Given the description of an element on the screen output the (x, y) to click on. 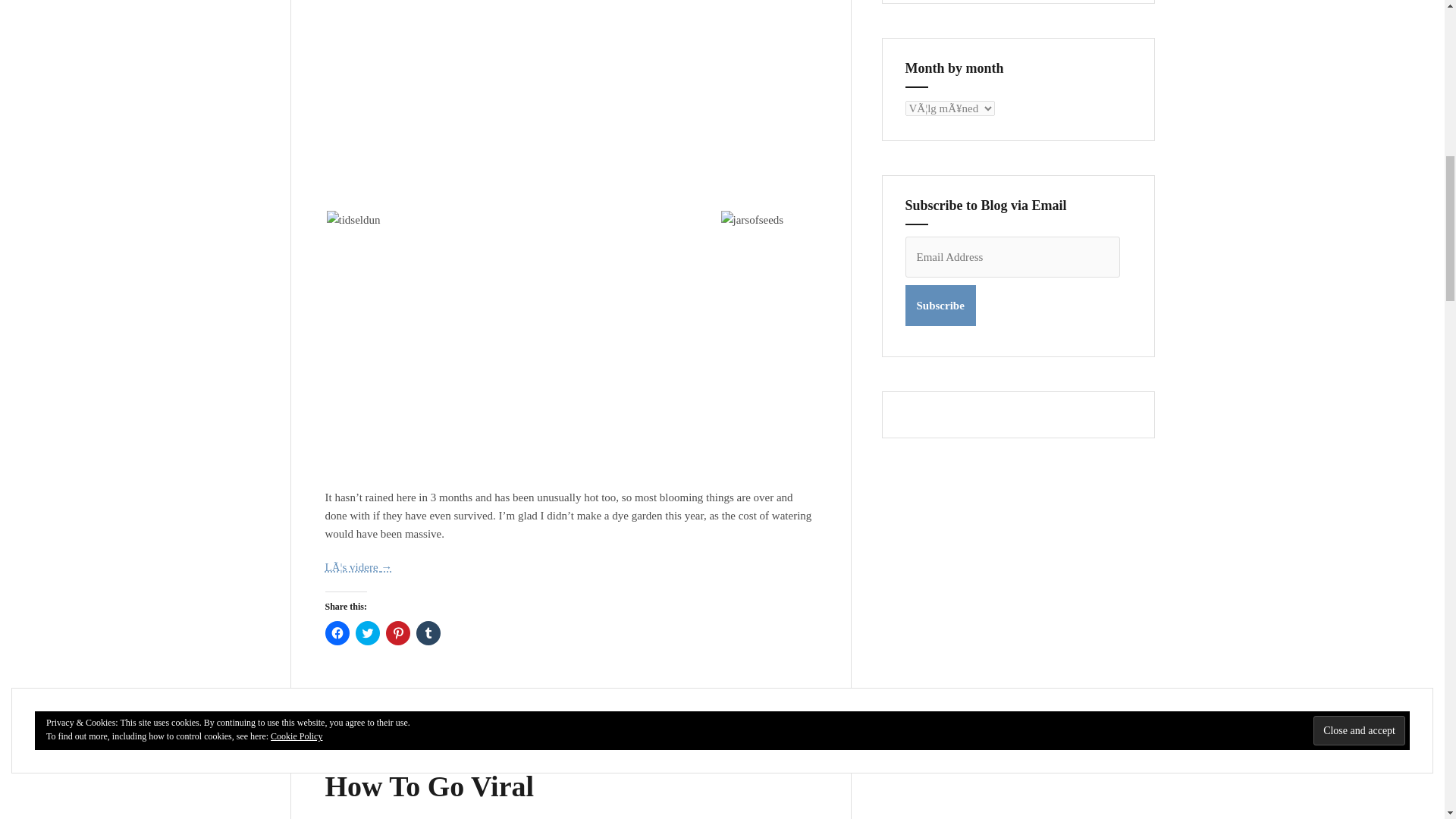
jarsofseeds (751, 219)
How To Go Viral (429, 786)
Click to share on Twitter (366, 632)
Click to share on Facebook (336, 632)
Click to share on Pinterest (397, 632)
Click to share on Tumblr (426, 632)
tidseldun (353, 219)
